Given the description of an element on the screen output the (x, y) to click on. 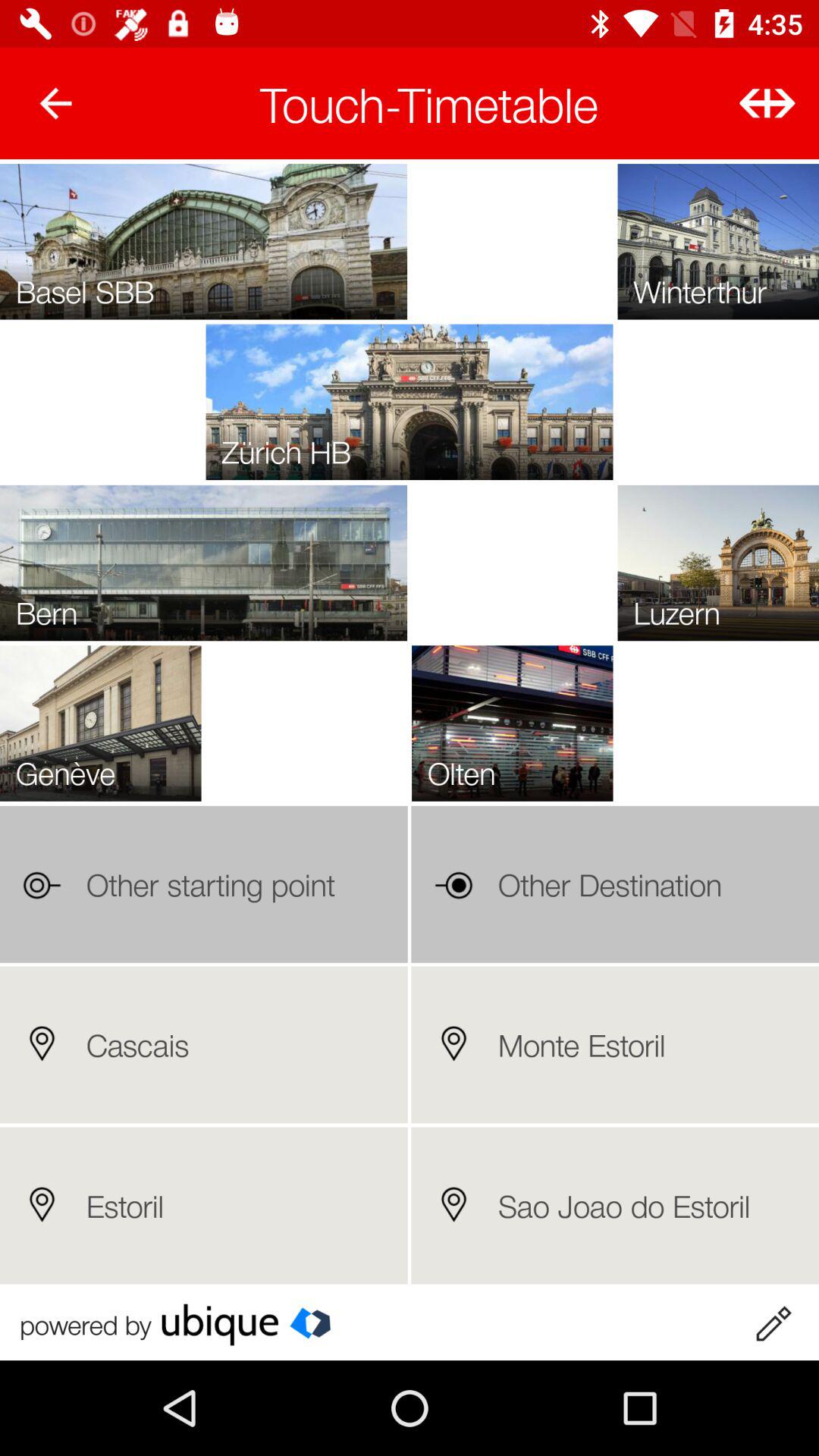
go back (55, 103)
